Given the description of an element on the screen output the (x, y) to click on. 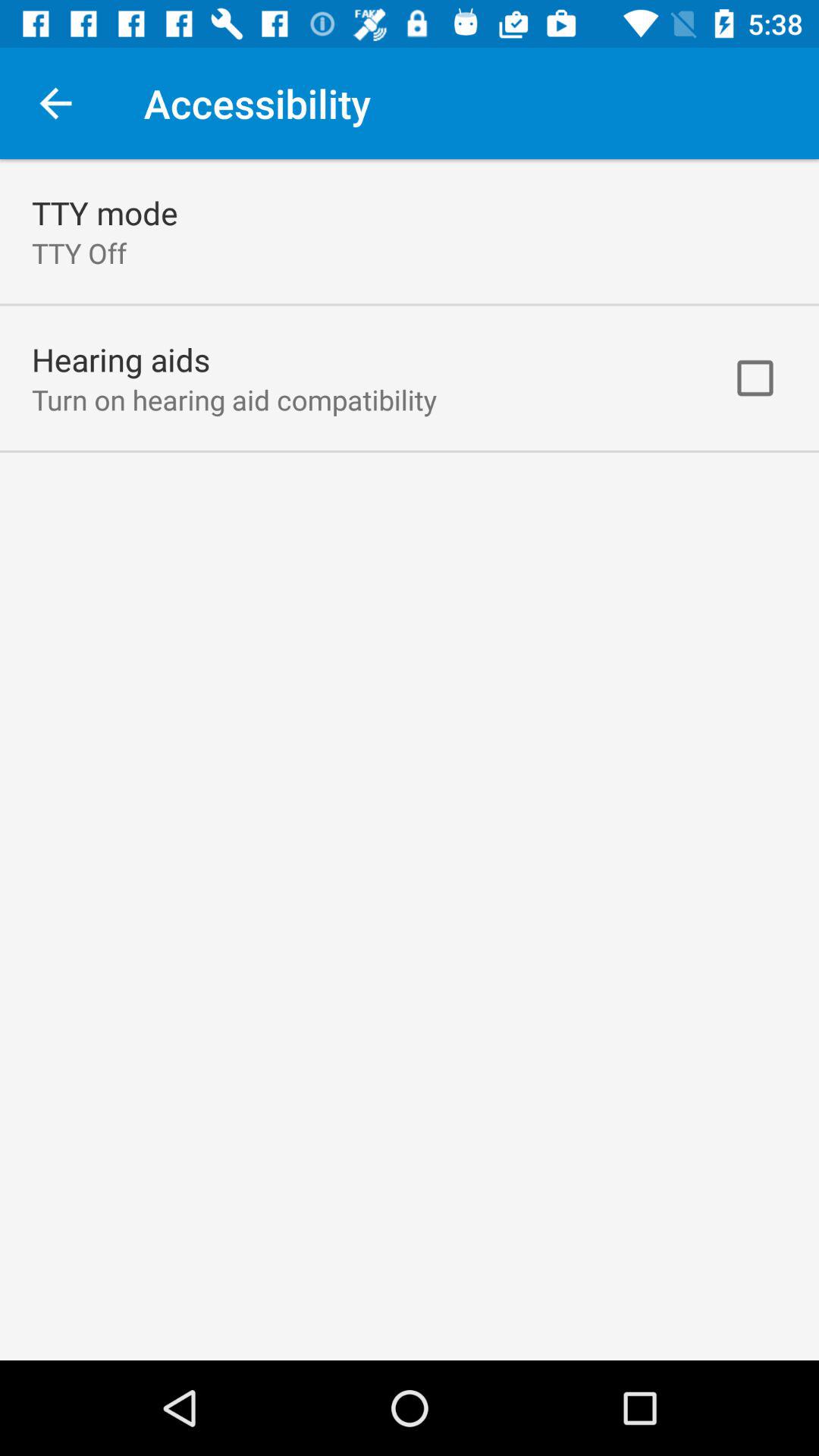
launch turn on hearing icon (233, 399)
